Given the description of an element on the screen output the (x, y) to click on. 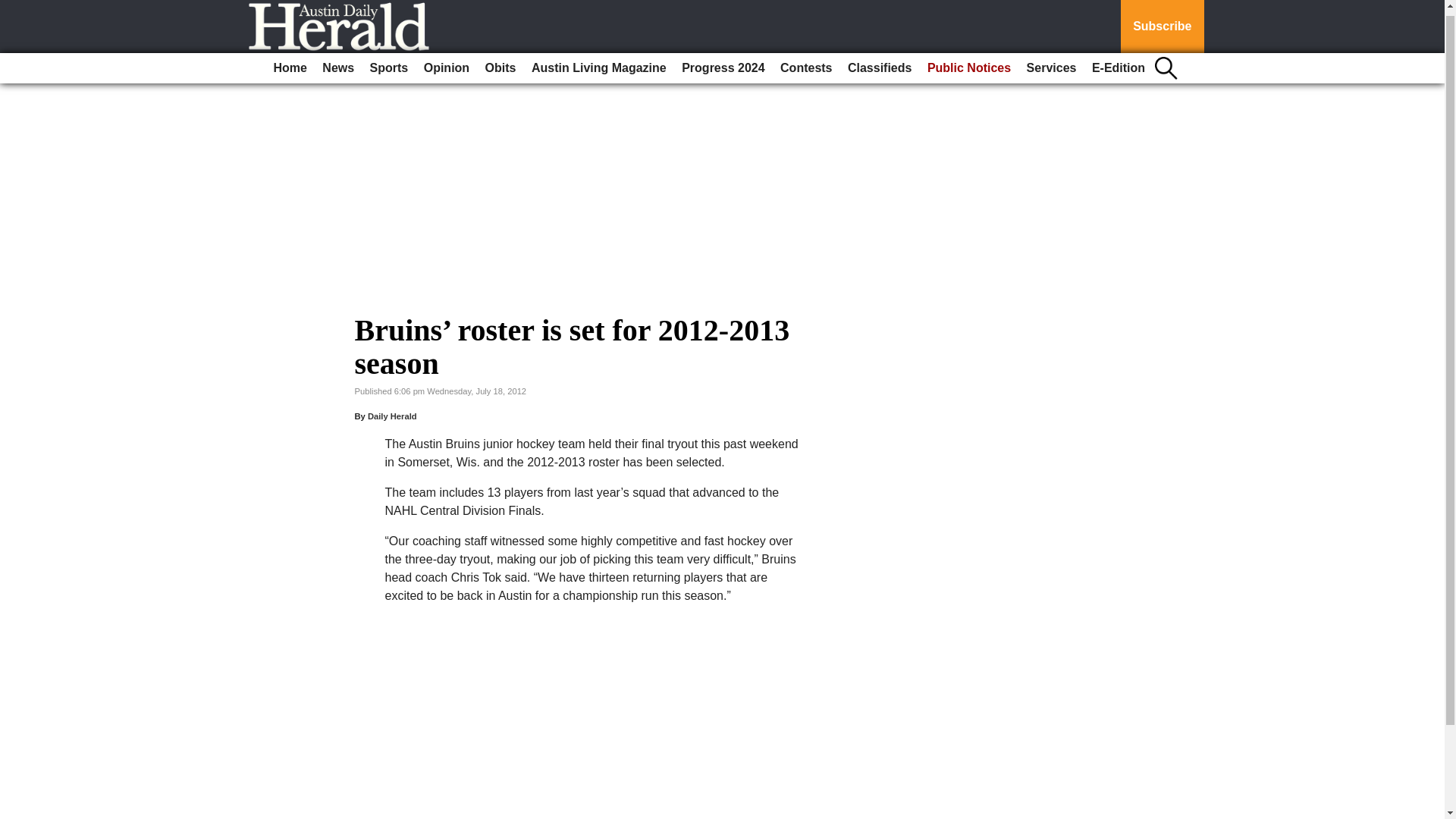
Subscribe (1162, 23)
Home (289, 62)
Contests (806, 62)
Services (1051, 62)
Austin Living Magazine (598, 62)
Public Notices (968, 62)
Progress 2024 (722, 62)
Opinion (446, 62)
Sports (389, 62)
Obits (500, 62)
